Given the description of an element on the screen output the (x, y) to click on. 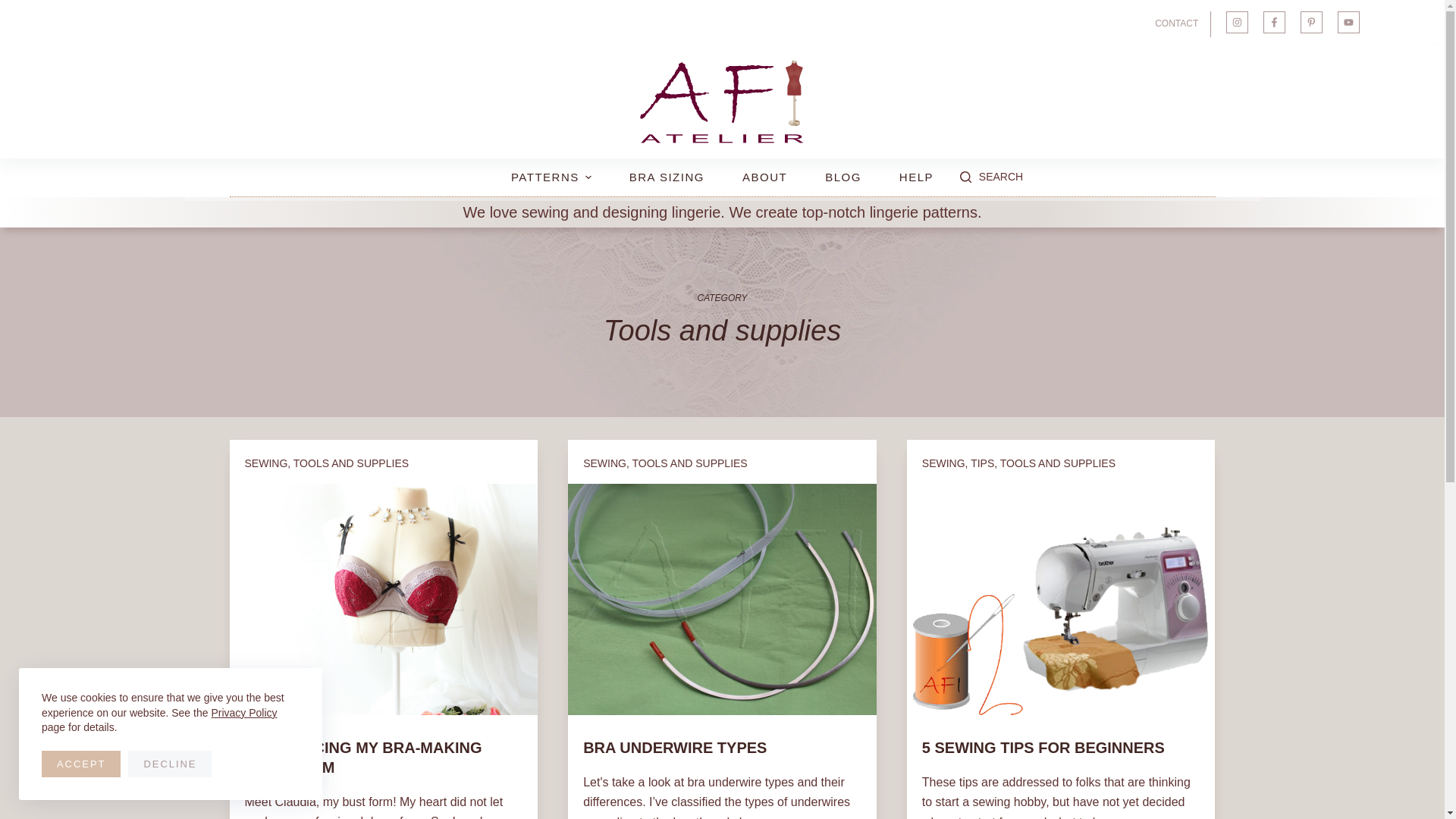
PATTERNS (551, 177)
Skip to content (15, 7)
Privacy Policy (243, 712)
CONTACT (1180, 23)
ACCEPT (81, 764)
Category Tools and supplies (722, 321)
DECLINE (169, 764)
